Given the description of an element on the screen output the (x, y) to click on. 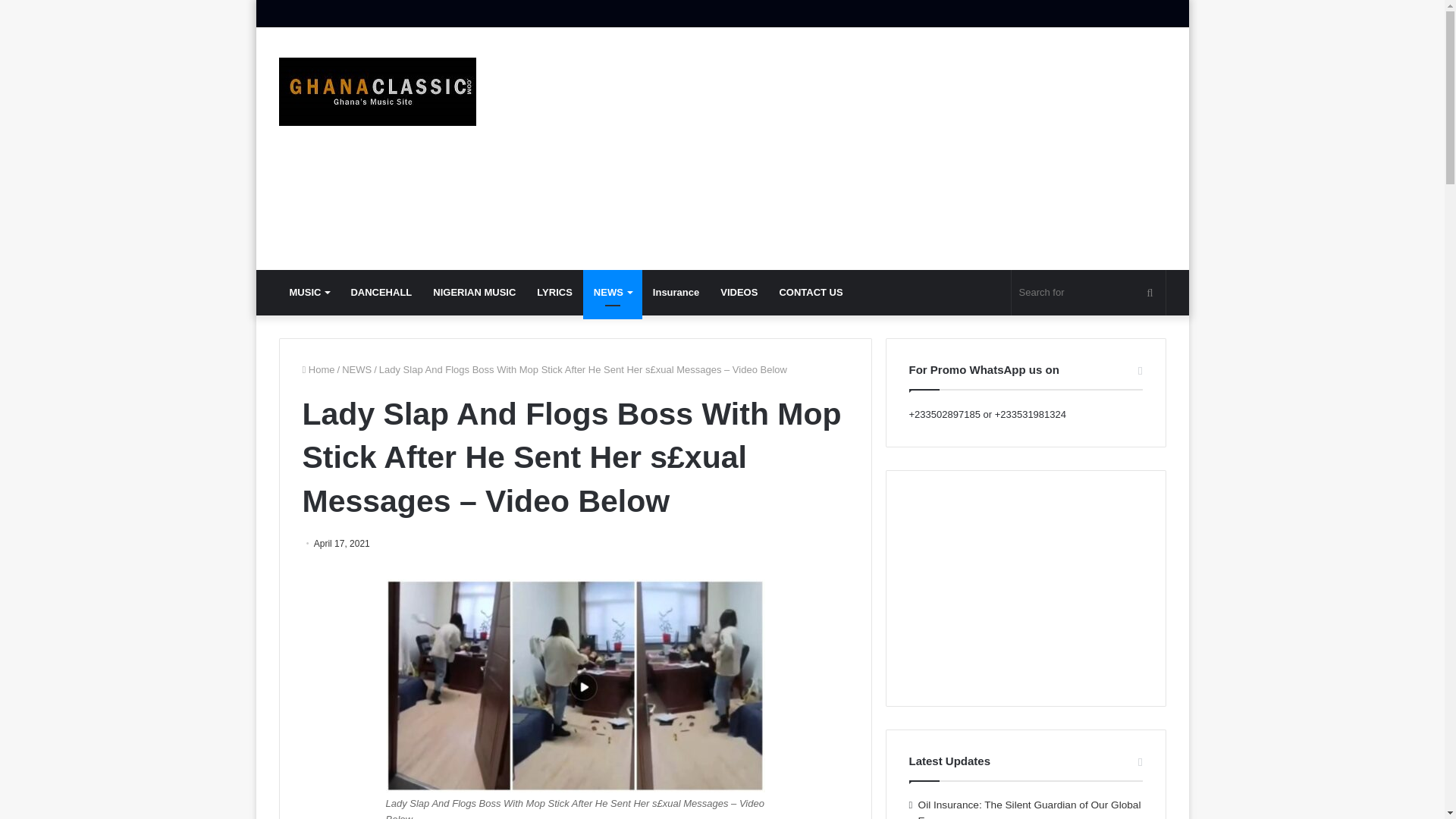
NEWS (612, 292)
Search for (1088, 292)
NEWS (356, 369)
CONTACT US (810, 292)
VIDEOS (739, 292)
DANCEHALL (380, 292)
Ghanaclasic (377, 91)
Home (317, 369)
Insurance (676, 292)
MUSIC (309, 292)
NIGERIAN MUSIC (473, 292)
LYRICS (553, 292)
